Given the description of an element on the screen output the (x, y) to click on. 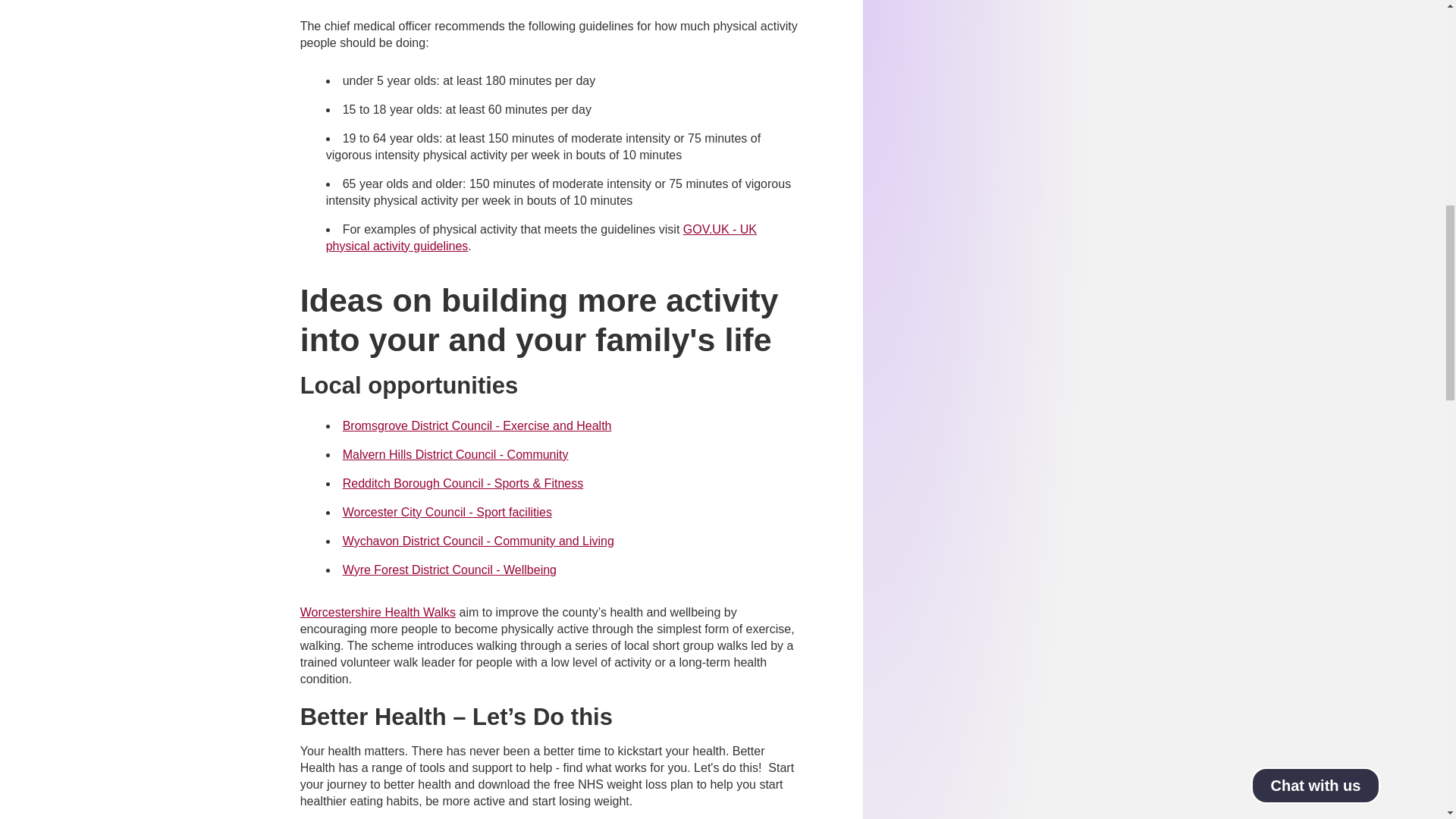
Worcestershire Health walks (377, 612)
